Given the description of an element on the screen output the (x, y) to click on. 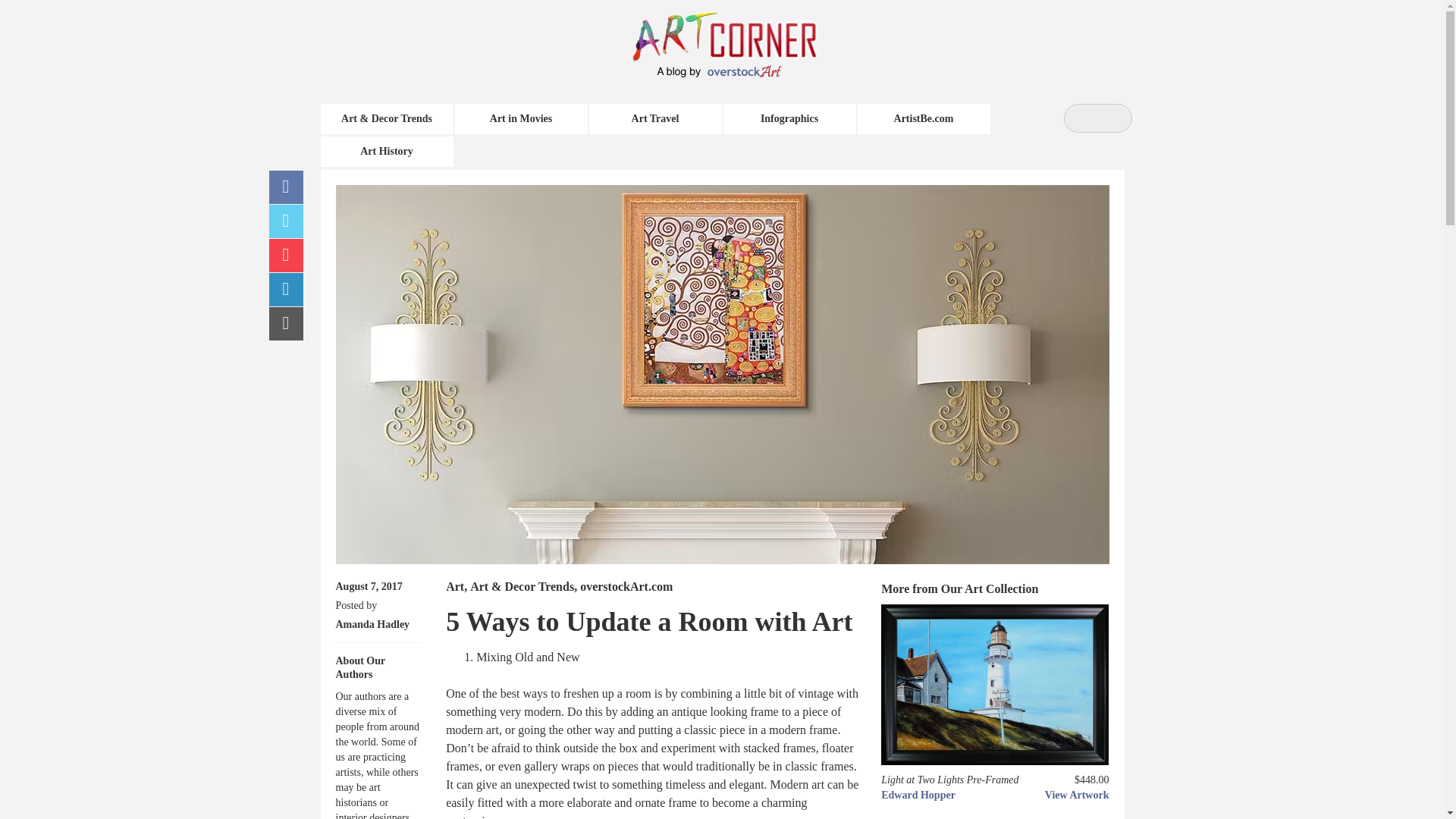
Infographics (789, 119)
Posts by Amanda Hadley (371, 624)
Art in Movies (521, 119)
Art Corner (740, 34)
overstockArt.com (625, 585)
ArtistBe.com (923, 119)
ArtConer Blog by overstockArt.com (740, 34)
Art History (386, 151)
Amanda Hadley (371, 624)
Art (454, 585)
